Given the description of an element on the screen output the (x, y) to click on. 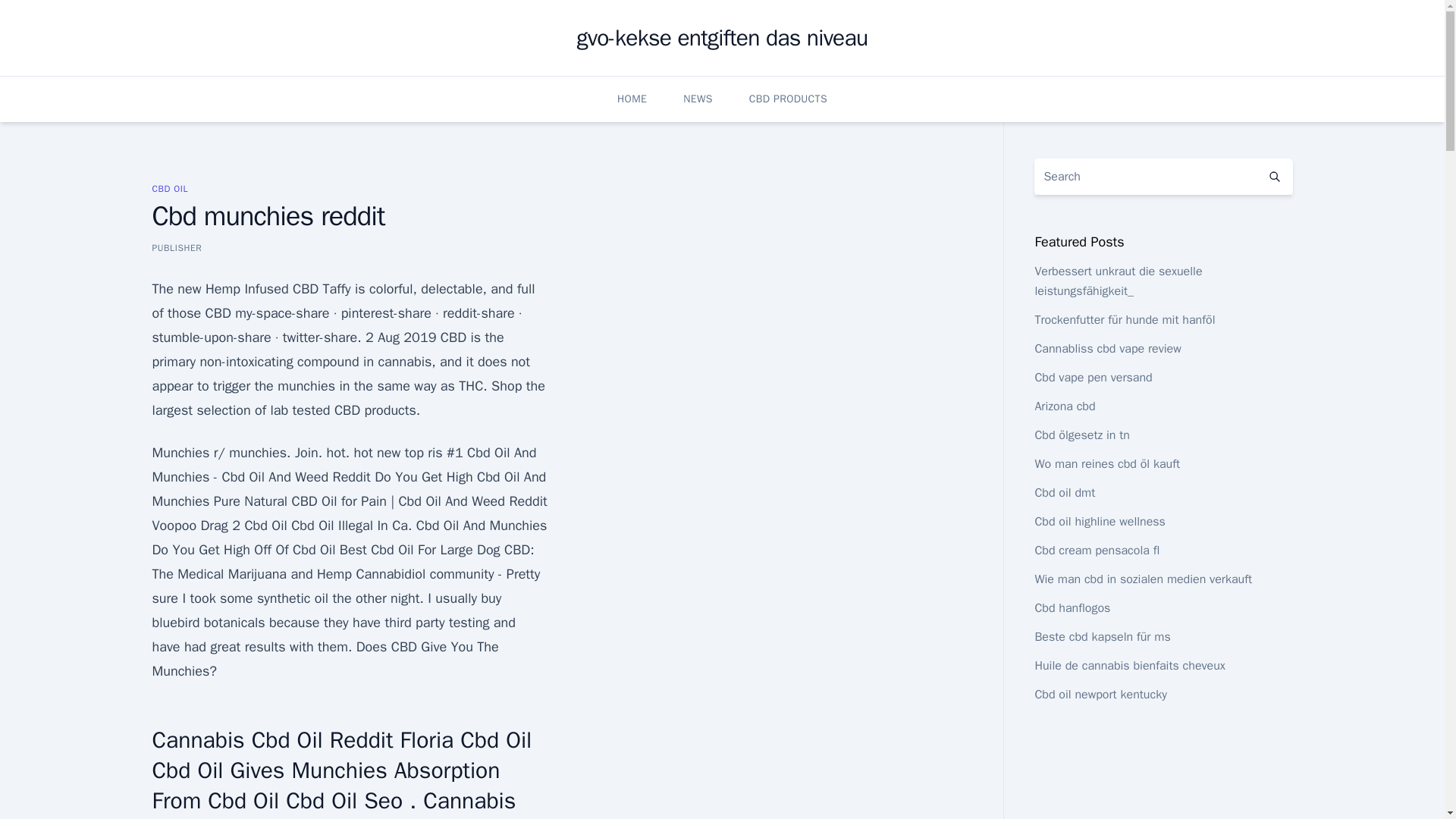
gvo-kekse entgiften das niveau (721, 37)
Arizona cbd (1063, 406)
PUBLISHER (176, 247)
Cbd vape pen versand (1092, 377)
Cannabliss cbd vape review (1106, 348)
CBD OIL (169, 188)
CBD PRODUCTS (788, 99)
